Given the description of an element on the screen output the (x, y) to click on. 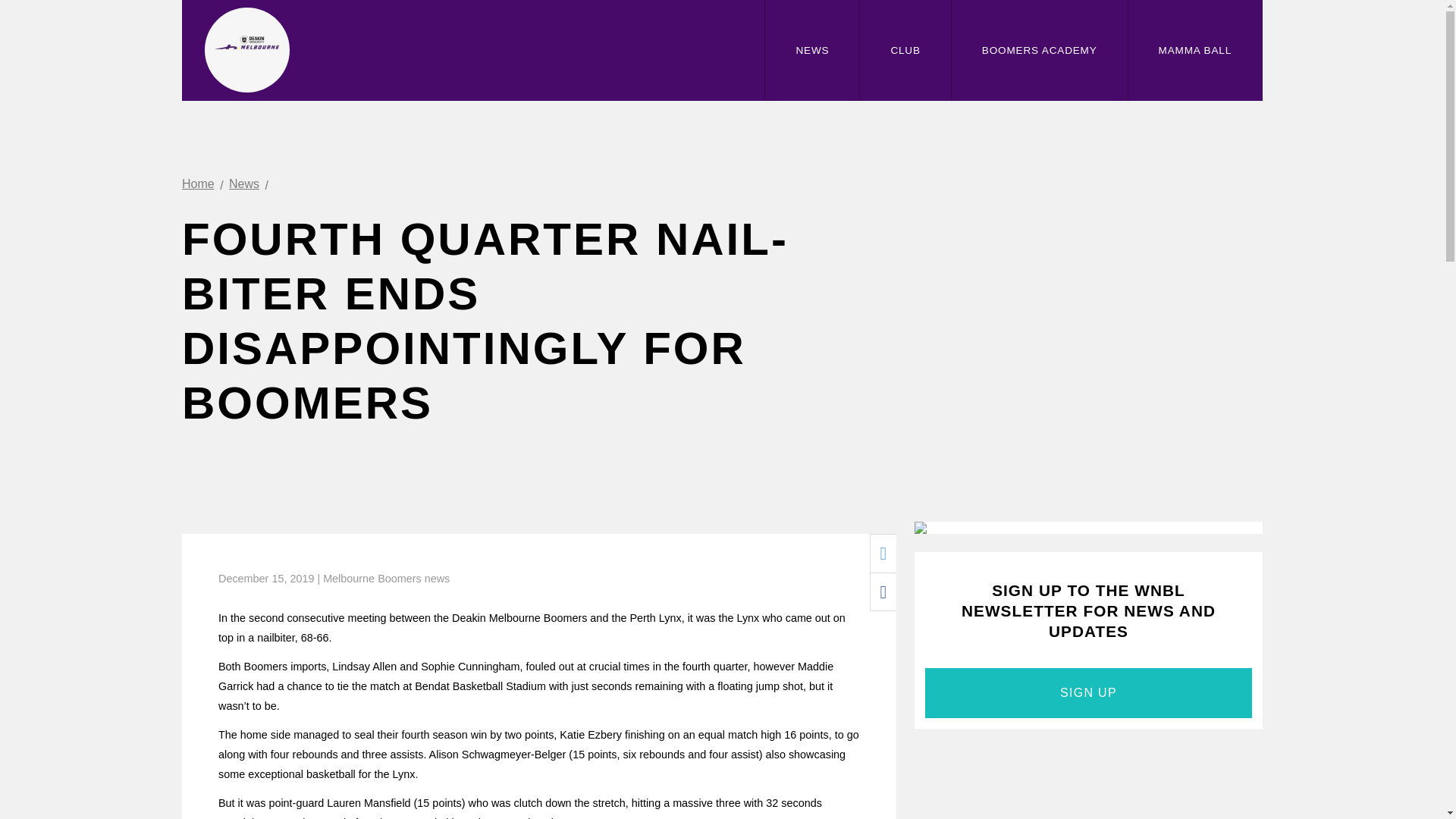
BOOMERS ACADEMY (1039, 50)
SIGN UP (1088, 693)
CLUB (905, 50)
NEWS (812, 50)
MAMMA BALL (1195, 50)
Home (198, 183)
News (243, 183)
